Given the description of an element on the screen output the (x, y) to click on. 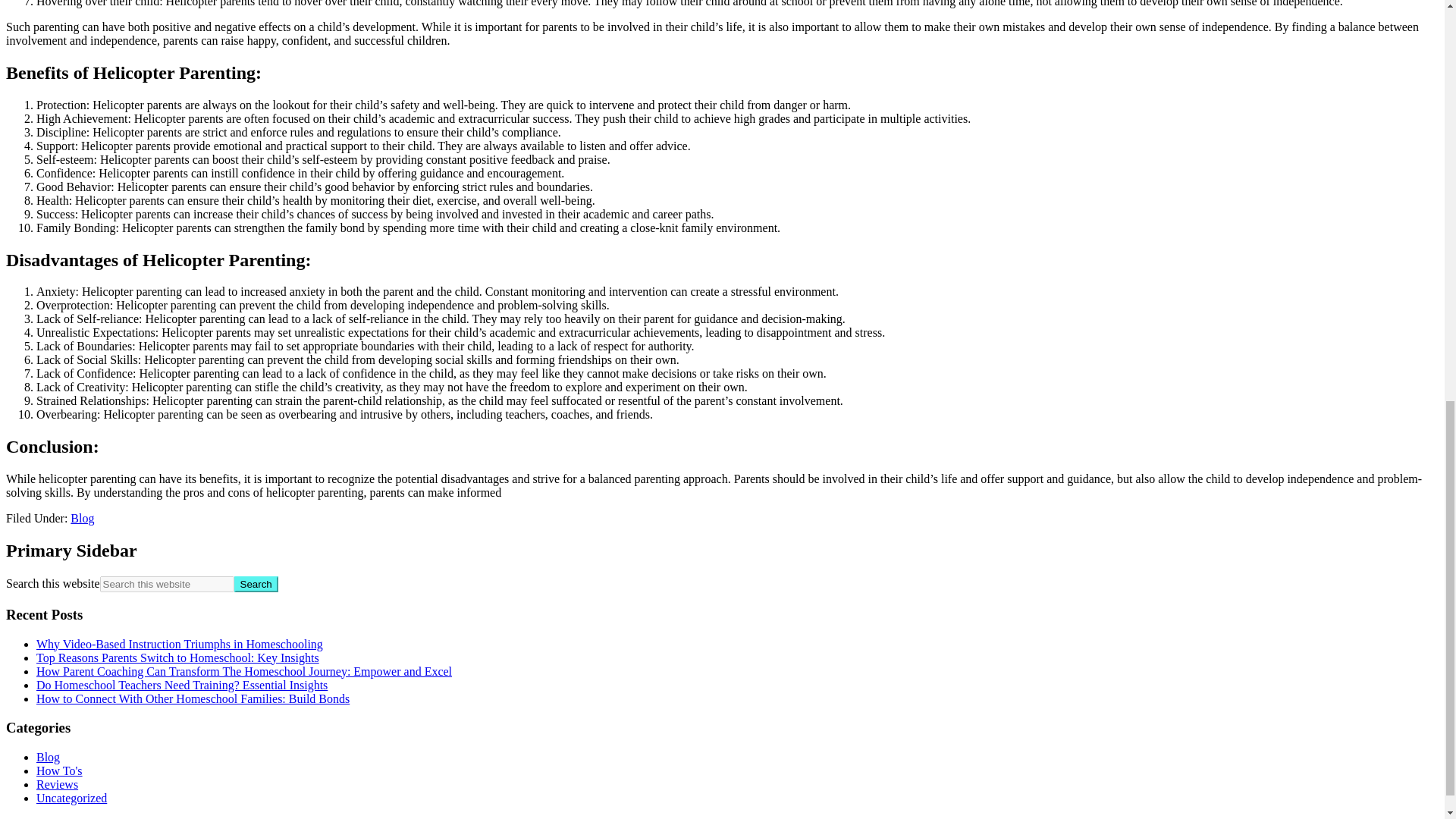
Search (256, 584)
Why Video-Based Instruction Triumphs in Homeschooling (179, 643)
Search (256, 584)
Top Reasons Parents Switch to Homeschool: Key Insights (177, 656)
How To's (59, 770)
How to Connect With Other Homeschool Families: Build Bonds (192, 697)
Search (256, 584)
Blog (81, 517)
Uncategorized (71, 797)
Do Homeschool Teachers Need Training? Essential Insights (181, 684)
